Given the description of an element on the screen output the (x, y) to click on. 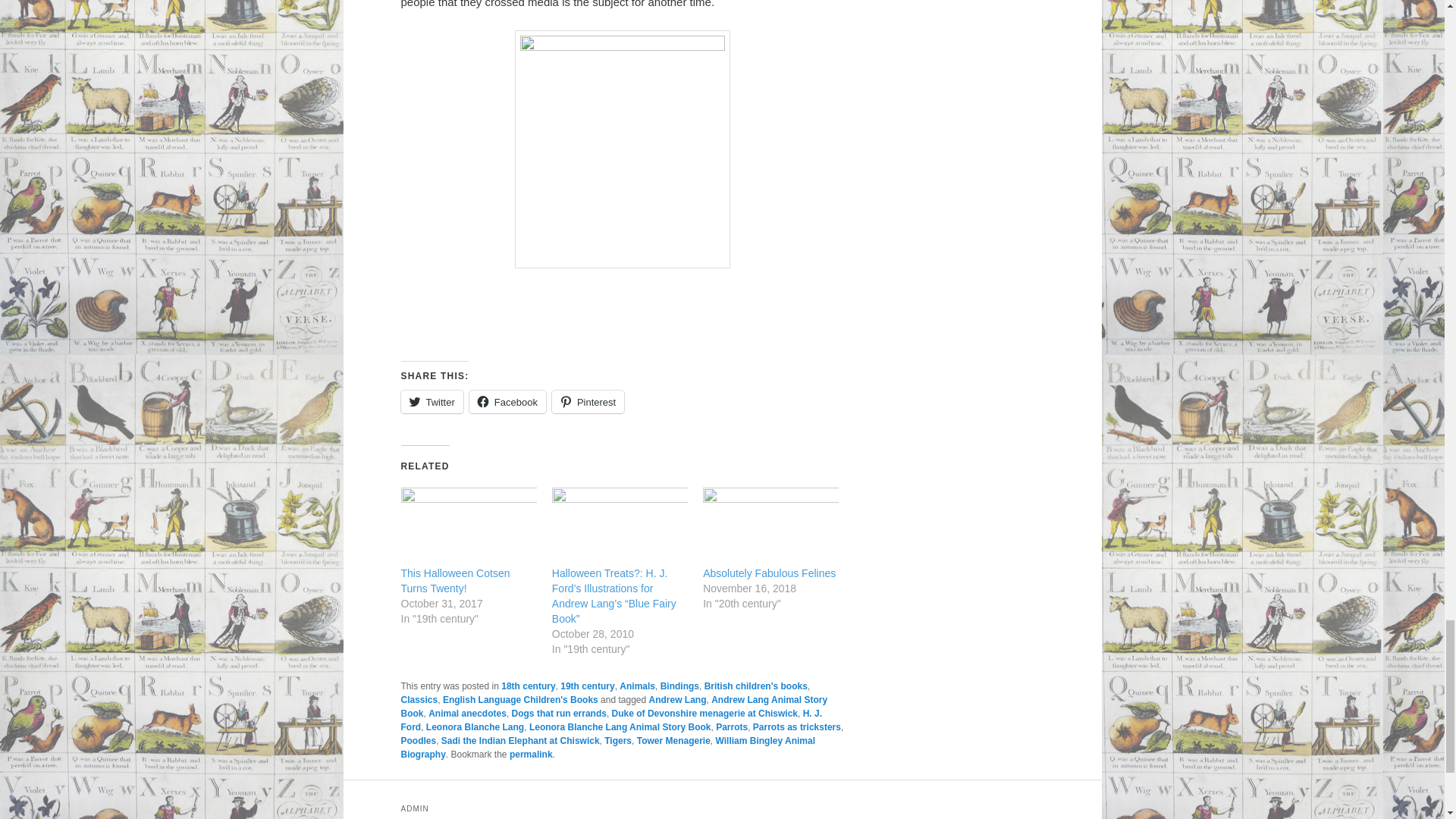
Andrew Lang (677, 699)
Absolutely Fabulous Felines (769, 573)
Leonora Blanche Lang (475, 726)
Absolutely Fabulous Felines (769, 573)
Twitter (431, 401)
18th century (527, 685)
This Halloween Cotsen Turns Twenty! (454, 580)
Parrots (732, 726)
Click to share on Pinterest (587, 401)
Click to share on Facebook (507, 401)
English Language Children's Books (520, 699)
Click to share on Twitter (431, 401)
Leonora Blanche Lang Animal Story Book (620, 726)
Facebook (507, 401)
This Halloween Cotsen Turns Twenty! (454, 580)
